Given the description of an element on the screen output the (x, y) to click on. 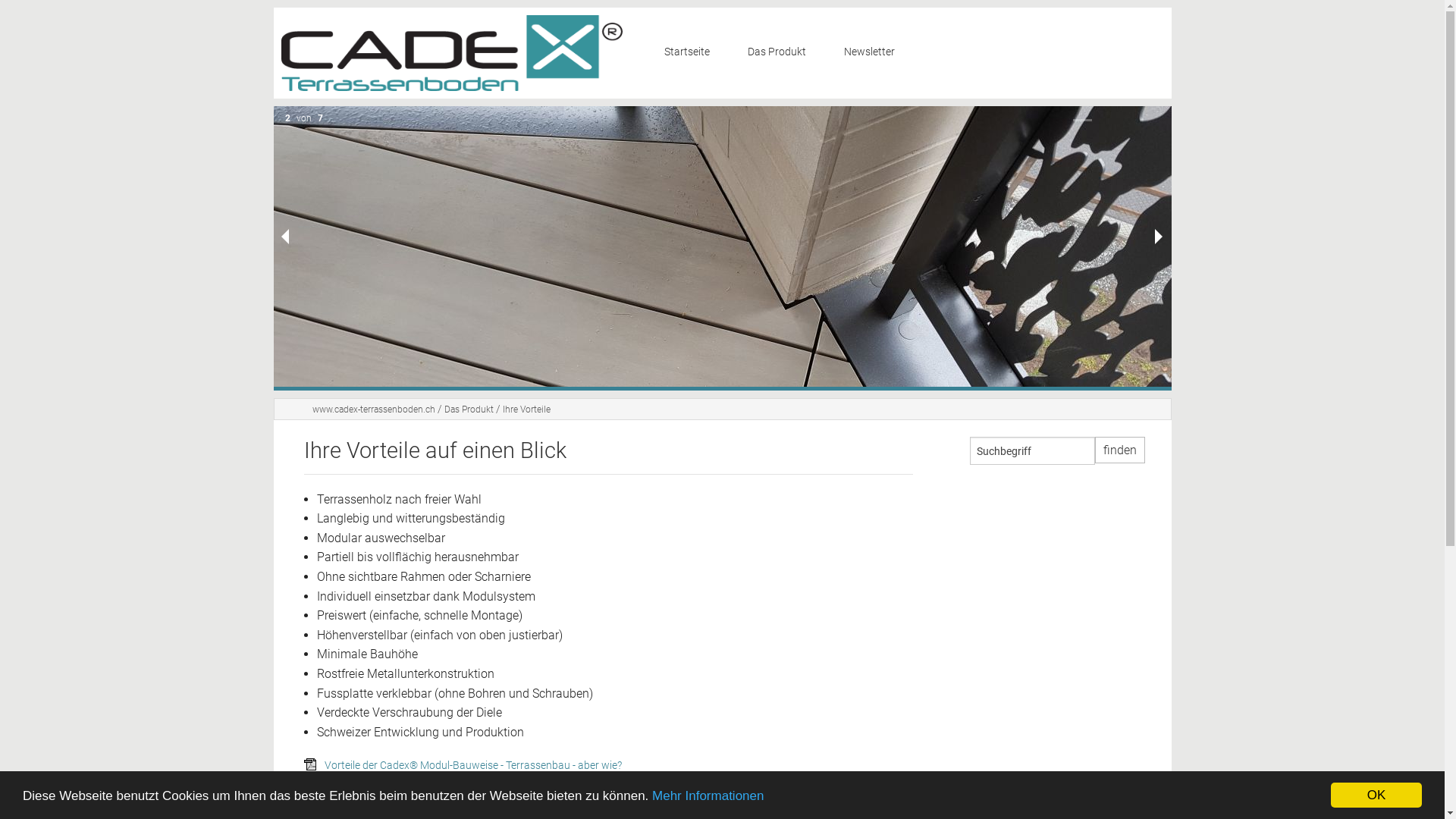
Cadex Terrassenboden Logo Element type: hover (451, 52)
Startseite Element type: text (693, 52)
OK Element type: text (1375, 794)
finden Element type: text (1120, 449)
www.cadex-terrassenboden.ch Element type: text (373, 409)
Module & -formate Element type: text (793, 162)
Terrassendetail in Perfektion Element type: hover (721, 246)
Newsletter Element type: text (869, 52)
Universalprofil Element type: text (793, 198)
Das Produkt Element type: text (468, 409)
Ihre Vorteile Element type: text (793, 89)
Referenbilder Element type: text (793, 271)
Suchbegriff hier eingeben Element type: hover (1031, 450)
Ihre Vorteile Element type: text (525, 409)
Mehr Informationen Element type: text (707, 795)
  Element type: hover (312, 766)
Das Produkt Element type: text (783, 52)
Terrassenholz Element type: text (793, 234)
Einsatzbereiche Element type: text (793, 125)
Downloads Element type: text (793, 307)
